Given the description of an element on the screen output the (x, y) to click on. 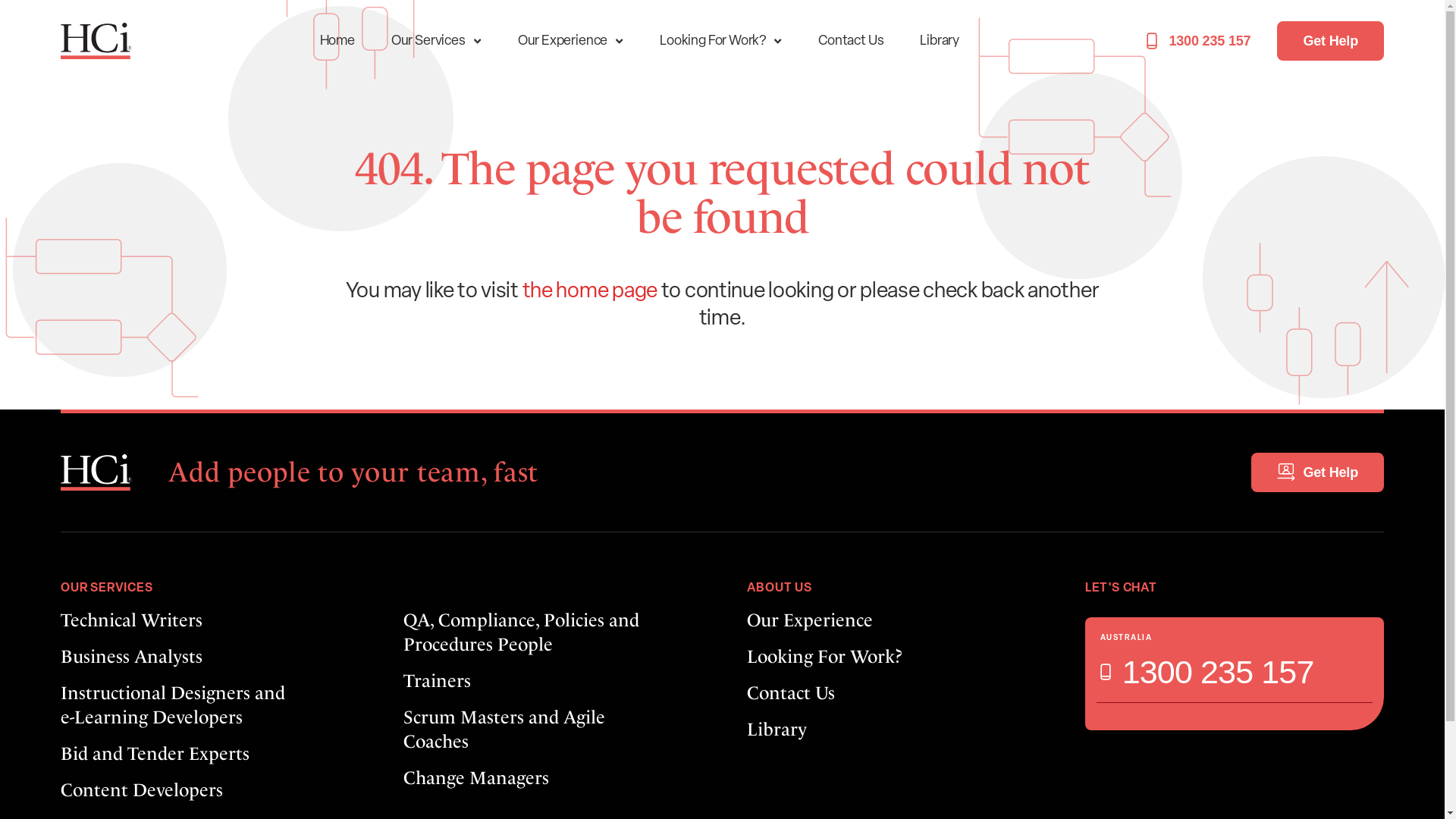
Technical Writers Element type: text (207, 620)
Our Services Element type: text (436, 40)
Our Experience Element type: text (570, 40)
Scrum Masters and Agile Coaches Element type: text (550, 729)
Library Element type: text (939, 40)
1300 235 157 Element type: text (1207, 671)
Library Element type: text (890, 729)
QA, Compliance, Policies and Procedures People Element type: text (550, 632)
Content Developers Element type: text (207, 789)
Contact Us Element type: text (850, 40)
1300 235 157 Element type: text (1198, 41)
Instructional Designers and
e-Learning Developers Element type: text (207, 704)
Home Element type: text (337, 40)
Business Analysts Element type: text (207, 656)
Bid and Tender Experts Element type: text (207, 753)
Get Help Element type: text (1317, 472)
Trainers Element type: text (550, 680)
Our Experience Element type: text (890, 620)
Looking For Work? Element type: text (720, 40)
Change Managers Element type: text (550, 777)
Get Help Element type: text (1330, 40)
Looking For Work? Element type: text (890, 656)
the home page Element type: text (589, 291)
Contact Us Element type: text (890, 692)
